Given the description of an element on the screen output the (x, y) to click on. 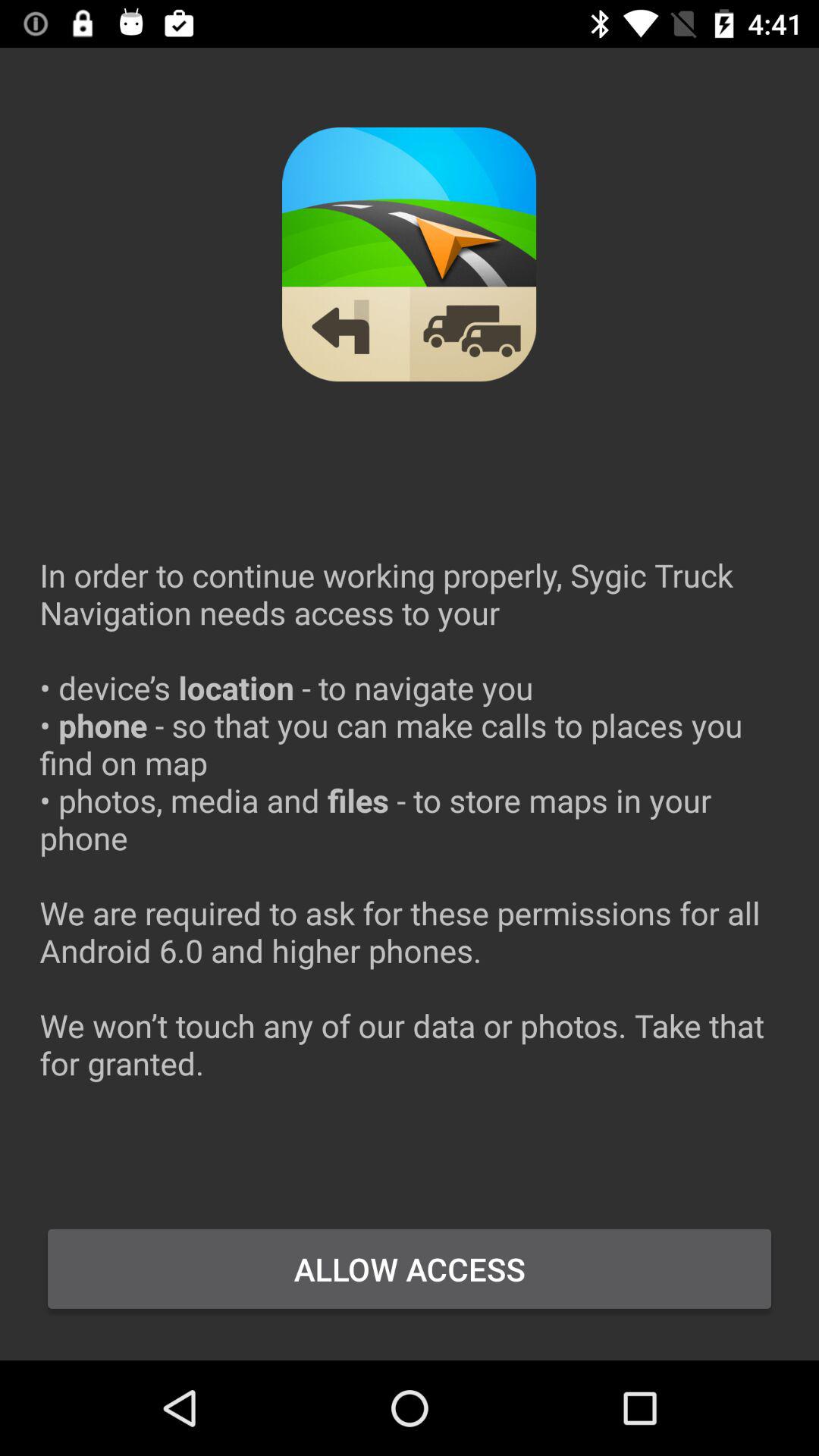
scroll to allow access item (409, 1268)
